Given the description of an element on the screen output the (x, y) to click on. 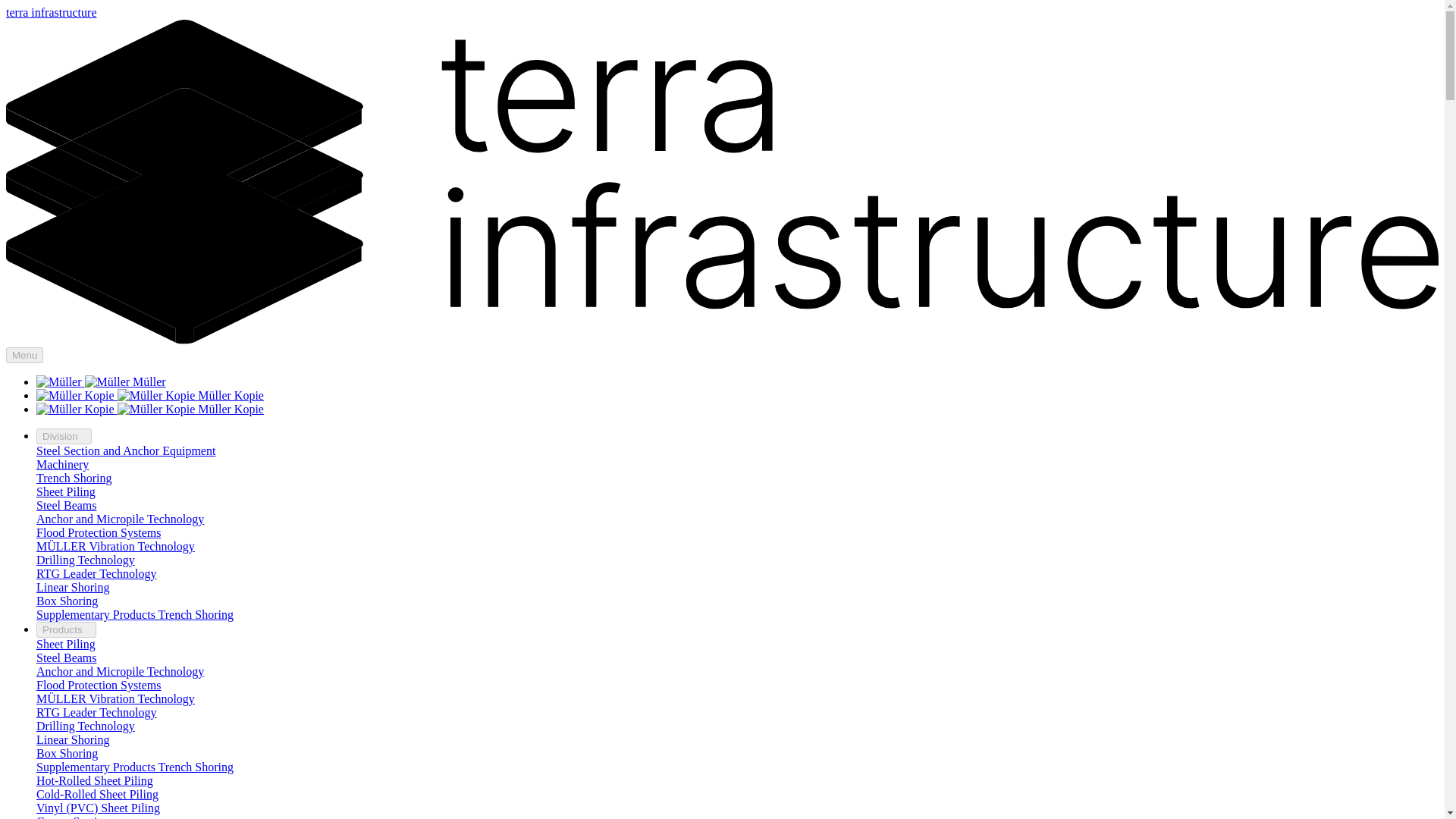
Supplementary Products Trench Shoring (134, 766)
Steel Beams (66, 657)
Linear Shoring (72, 586)
RTG Leader Technology (95, 573)
Division (63, 436)
Machinery (62, 463)
Box Shoring (66, 753)
Flood Protection Systems (98, 684)
Trench Shoring (74, 477)
Products (66, 629)
Drilling Technology (85, 725)
Corner Sections (75, 816)
Steel Beams (66, 504)
Menu (24, 355)
Sheet Piling (66, 644)
